Given the description of an element on the screen output the (x, y) to click on. 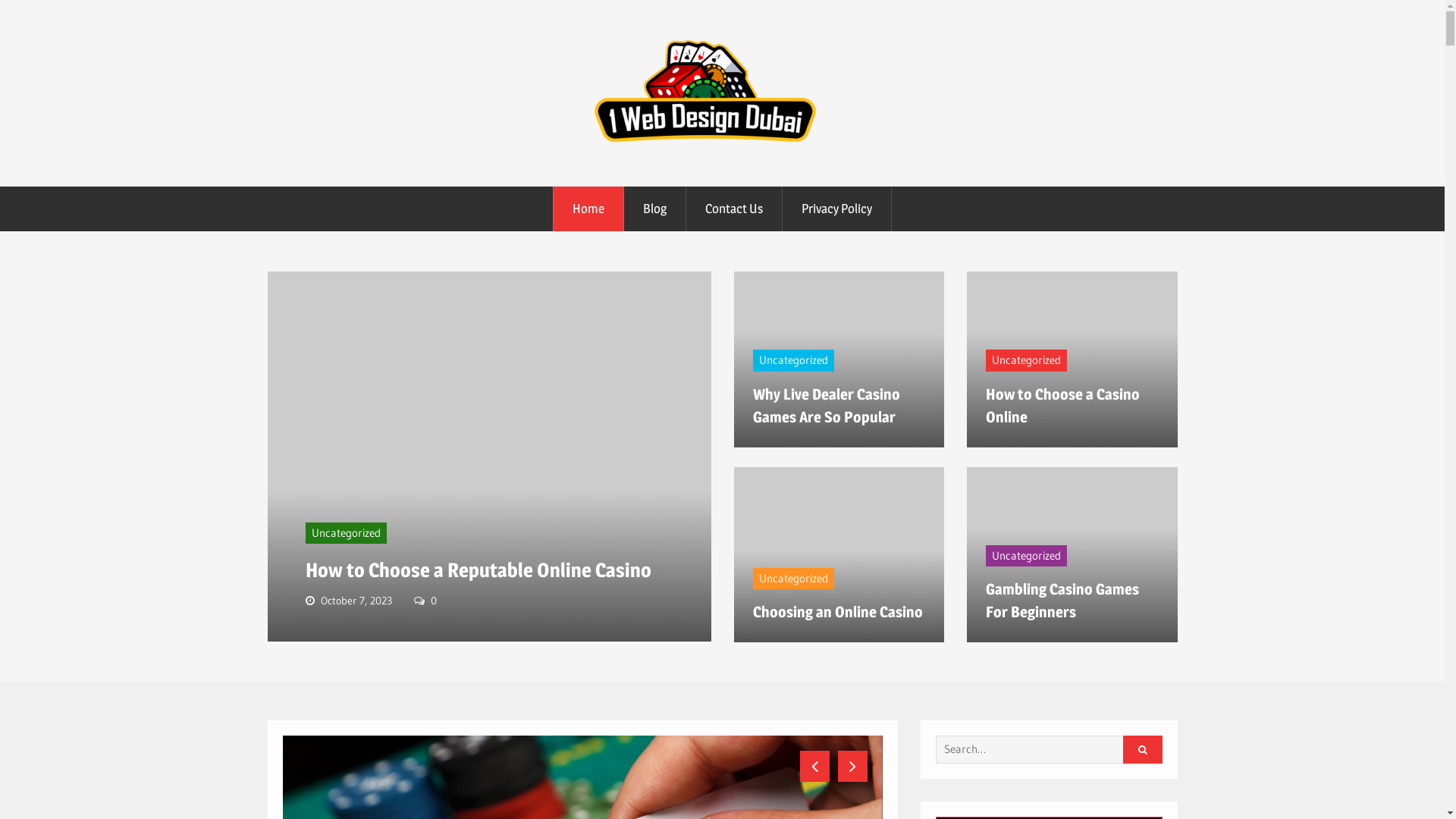
Home Element type: text (588, 209)
Choosing an Online Casino Element type: text (837, 611)
Uncategorized Element type: text (344, 532)
Uncategorized Element type: text (1025, 359)
Uncategorized Element type: text (792, 578)
Uncategorized Element type: text (792, 359)
How to Choose a Casino Online Element type: text (1062, 405)
Uncategorized Element type: text (1025, 555)
Gambling Casino Games For Beginners Element type: text (1062, 600)
Contact Us Element type: text (734, 209)
How to Choose a Reputable Online Casino Element type: text (477, 569)
Blog Element type: text (655, 209)
0 Element type: text (433, 600)
Why Live Dealer Casino Games Are So Popular Element type: text (825, 405)
Search for: Element type: hover (1043, 749)
Privacy Policy Element type: text (836, 209)
